Given the description of an element on the screen output the (x, y) to click on. 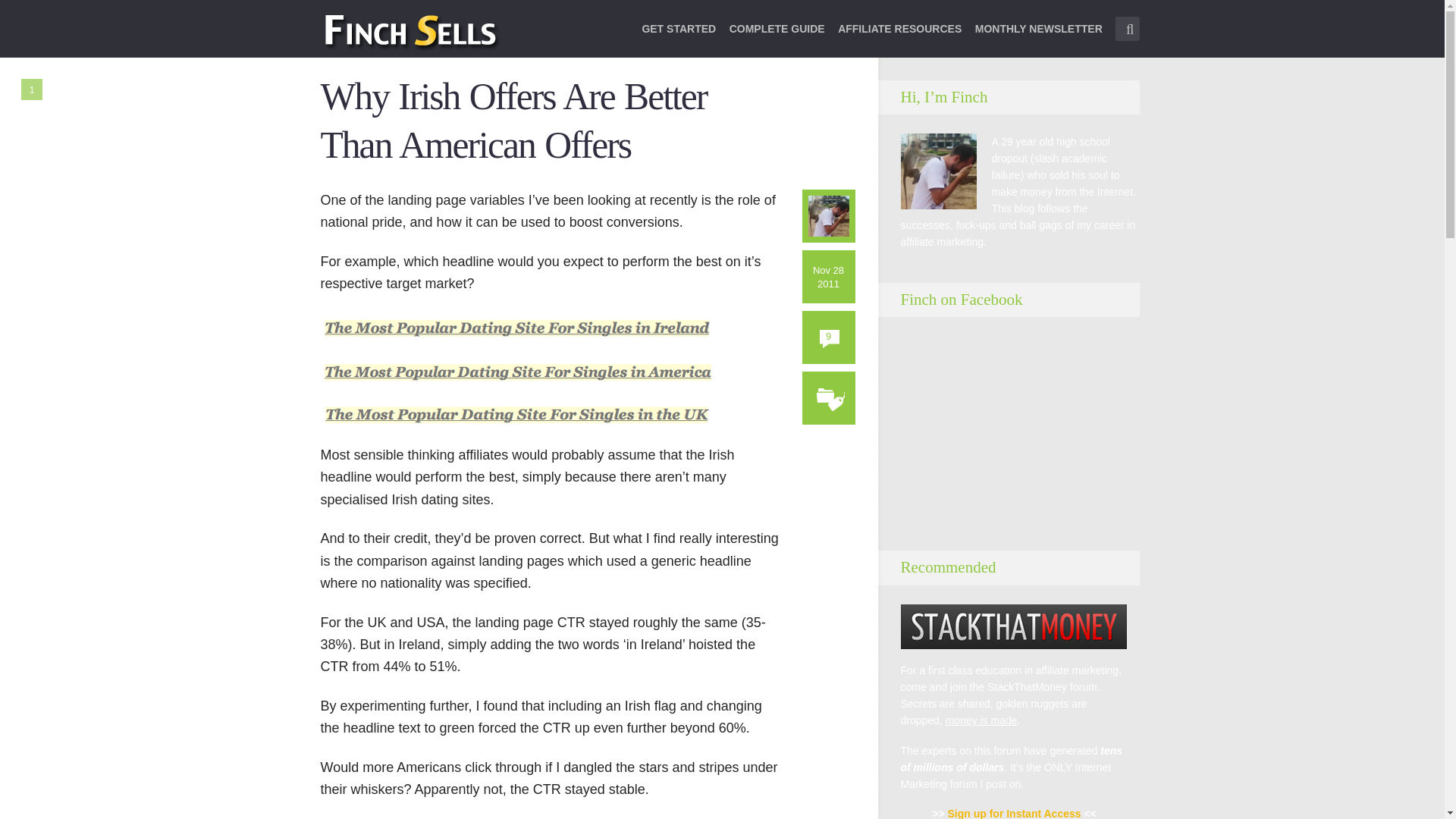
Finch Sells (464, 30)
Type here to search... (1126, 28)
GET STARTED (679, 37)
ireland (517, 327)
AFFILIATE RESOURCES (899, 37)
America LP (517, 371)
Sign up for Instant Access (1013, 813)
MONTHLY NEWSLETTER (1038, 37)
uk LP (517, 414)
1 (31, 88)
Type here to search... (1126, 28)
COMPLETE GUIDE (777, 37)
Why Irish Offers Are Better Than American Offers (513, 121)
Why Irish Offers Are Better Than American Offers (513, 121)
